Given the description of an element on the screen output the (x, y) to click on. 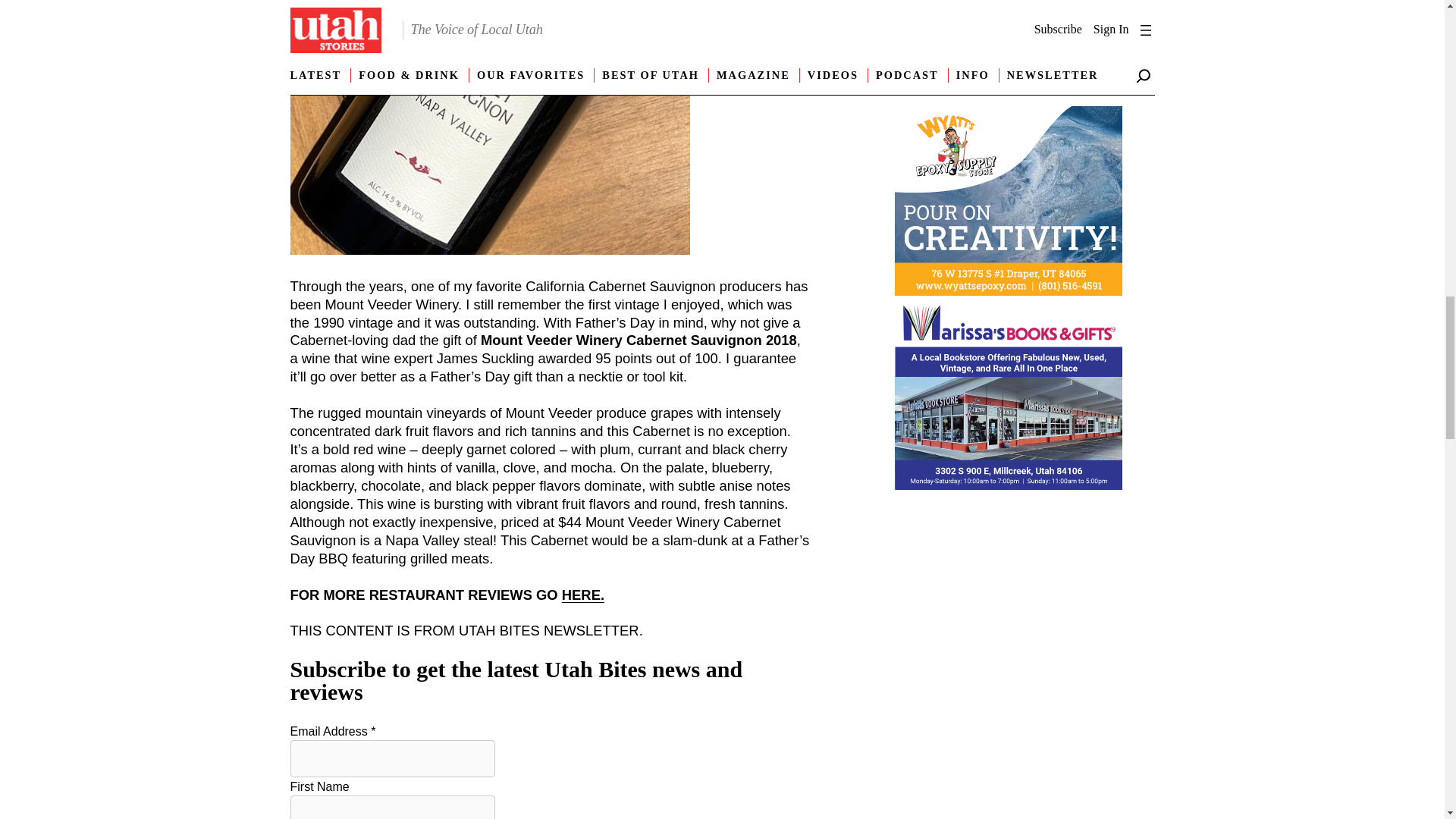
side ad (1008, 94)
